Given the description of an element on the screen output the (x, y) to click on. 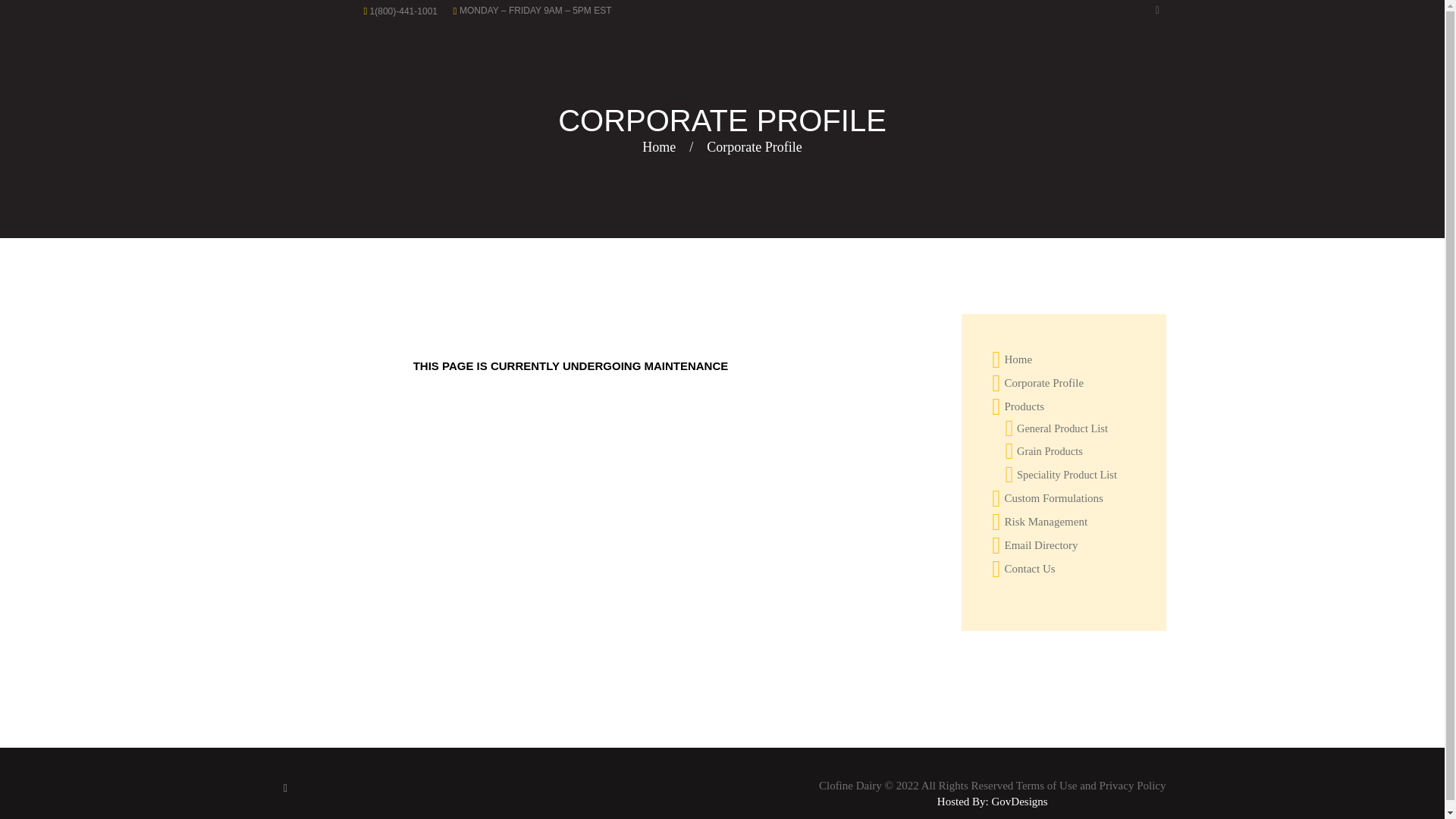
Home (1018, 358)
Home (658, 147)
Terms of Use (1046, 785)
Contact Us (1029, 568)
Speciality Product List (1066, 474)
Privacy Policy (1132, 785)
GovDesigns (1018, 801)
Custom Formulations (1053, 498)
General Product List (1062, 428)
Email Directory (1040, 544)
